Given the description of an element on the screen output the (x, y) to click on. 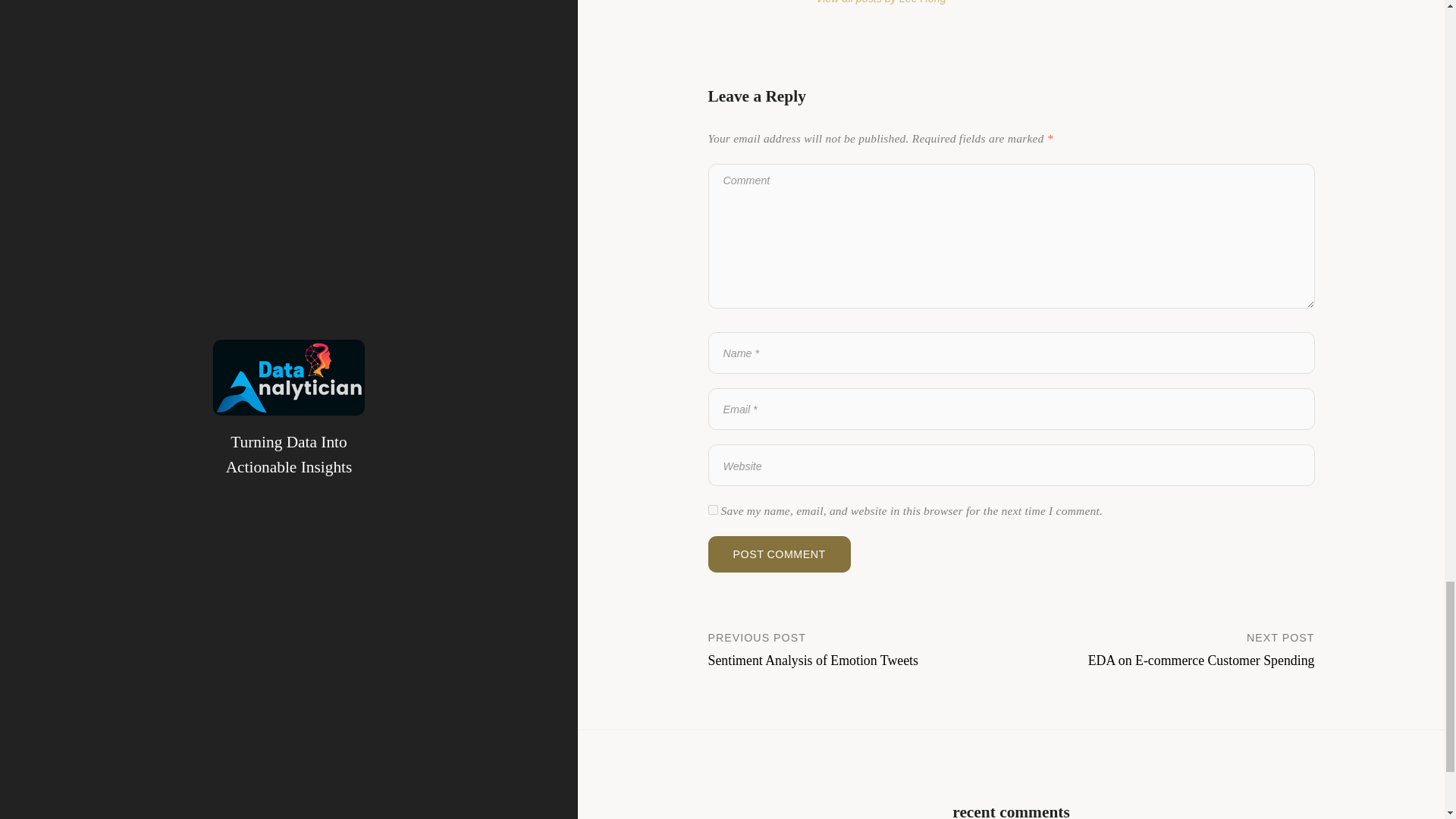
Post Comment (1162, 648)
yes (859, 648)
Post Comment (778, 554)
